Given the description of an element on the screen output the (x, y) to click on. 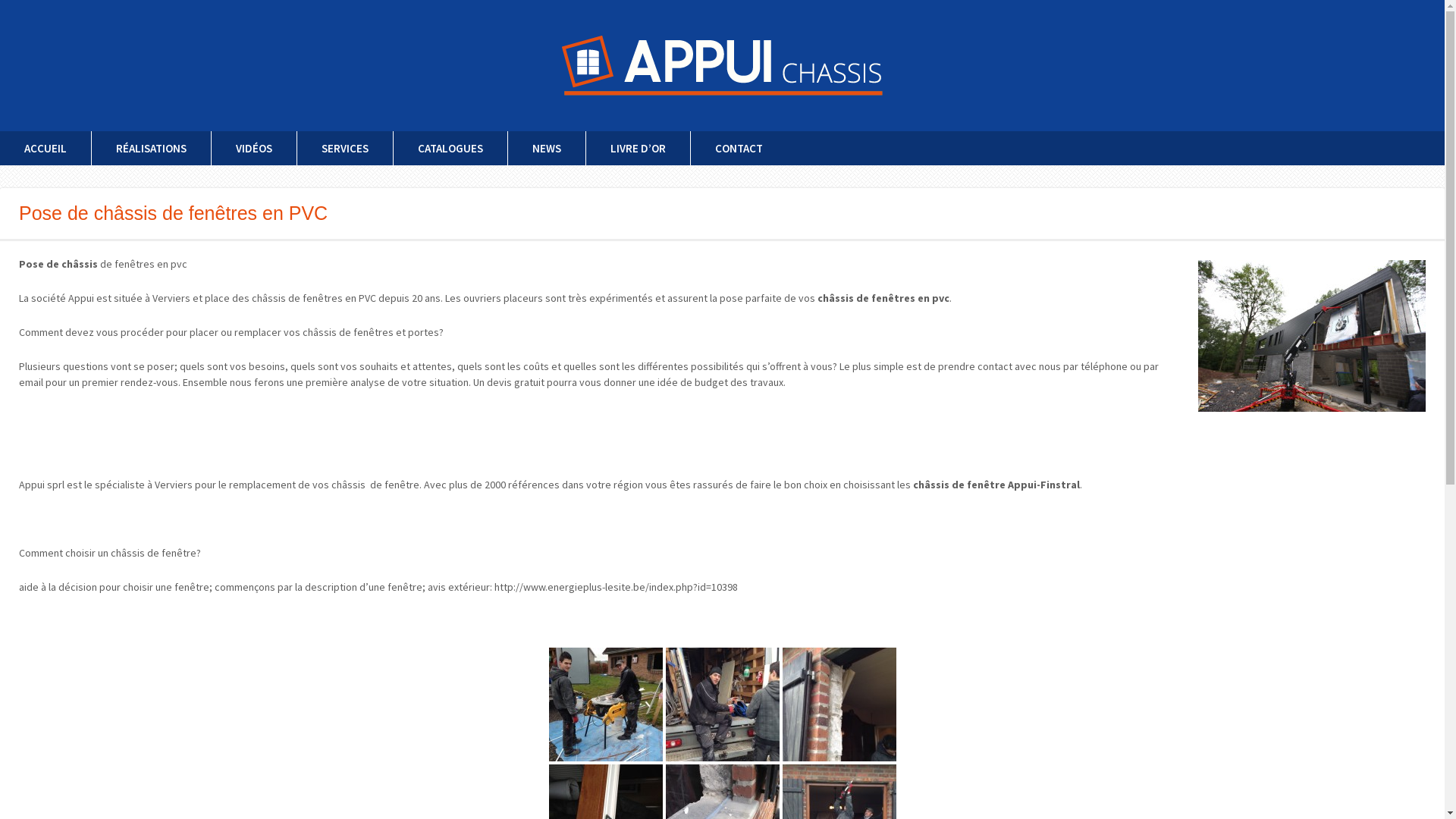
SERVICES Element type: text (344, 148)
CONTACT Element type: text (738, 148)
CATALOGUES Element type: text (449, 148)
Appui Element type: hover (721, 65)
NEWS Element type: text (546, 148)
ACCUEIL Element type: text (45, 148)
